Given the description of an element on the screen output the (x, y) to click on. 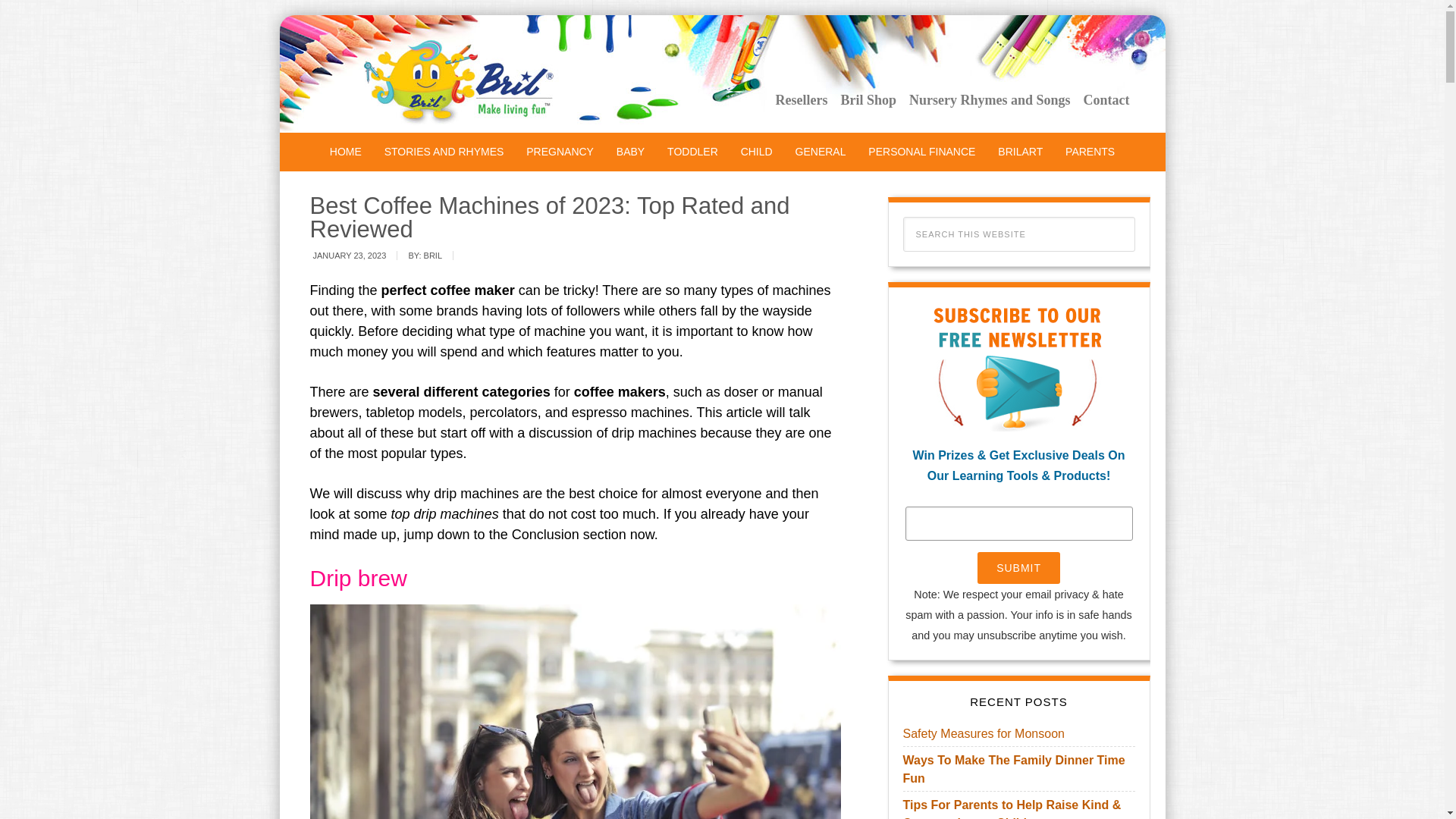
PARENTS (1089, 151)
TODDLER (693, 151)
BABY (630, 151)
PERSONAL FINANCE (922, 151)
HOME (345, 151)
STORIES AND RHYMES (443, 151)
BRILART (1020, 151)
Ways To Make The Family Dinner Time Fun  (1013, 768)
Safety Measures for Monsoon (983, 733)
  Submit   (1017, 567)
CHILD (756, 151)
PREGNANCY (560, 151)
  Submit   (1017, 567)
